Given the description of an element on the screen output the (x, y) to click on. 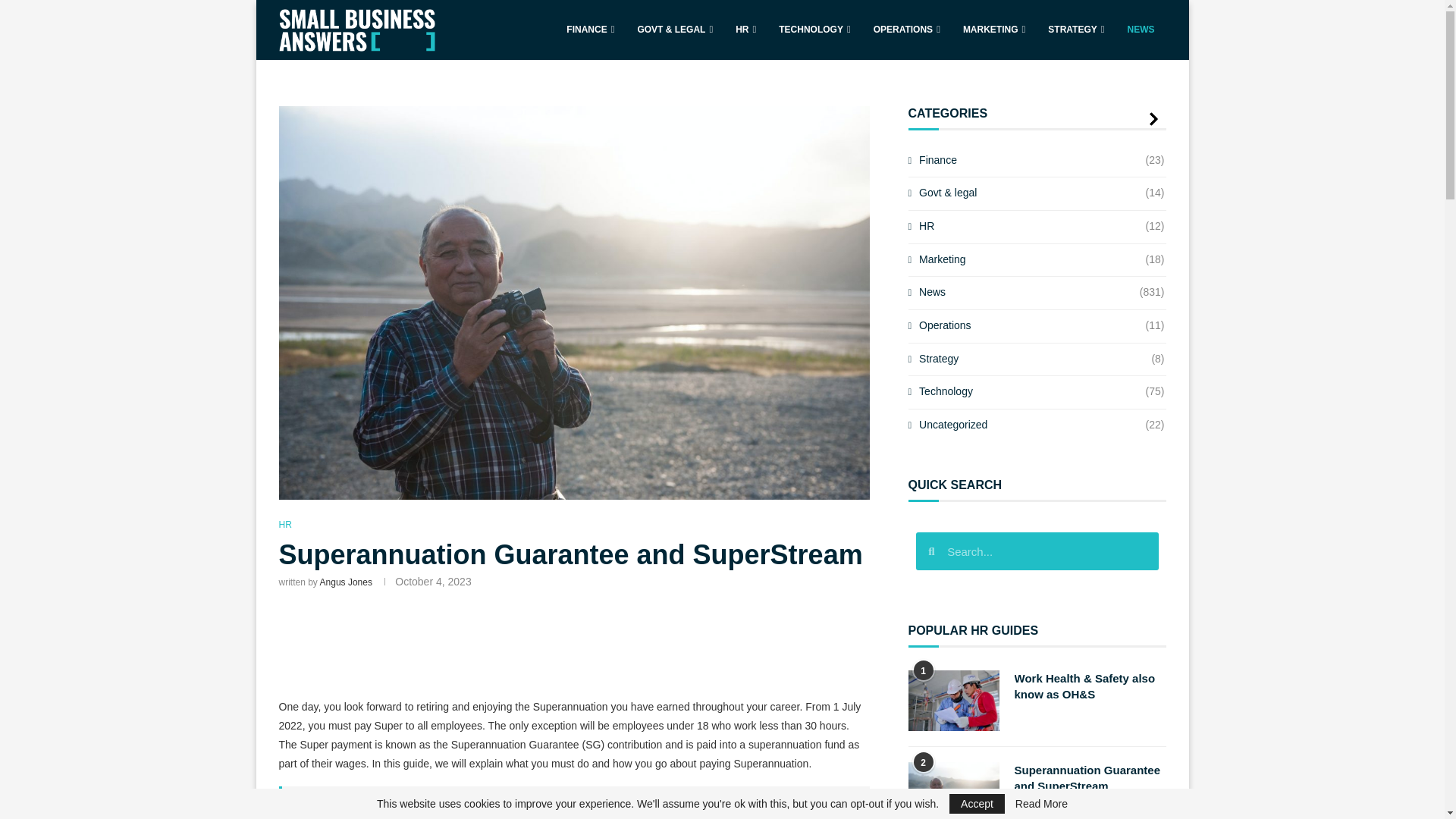
FINANCE (590, 29)
